Given the description of an element on the screen output the (x, y) to click on. 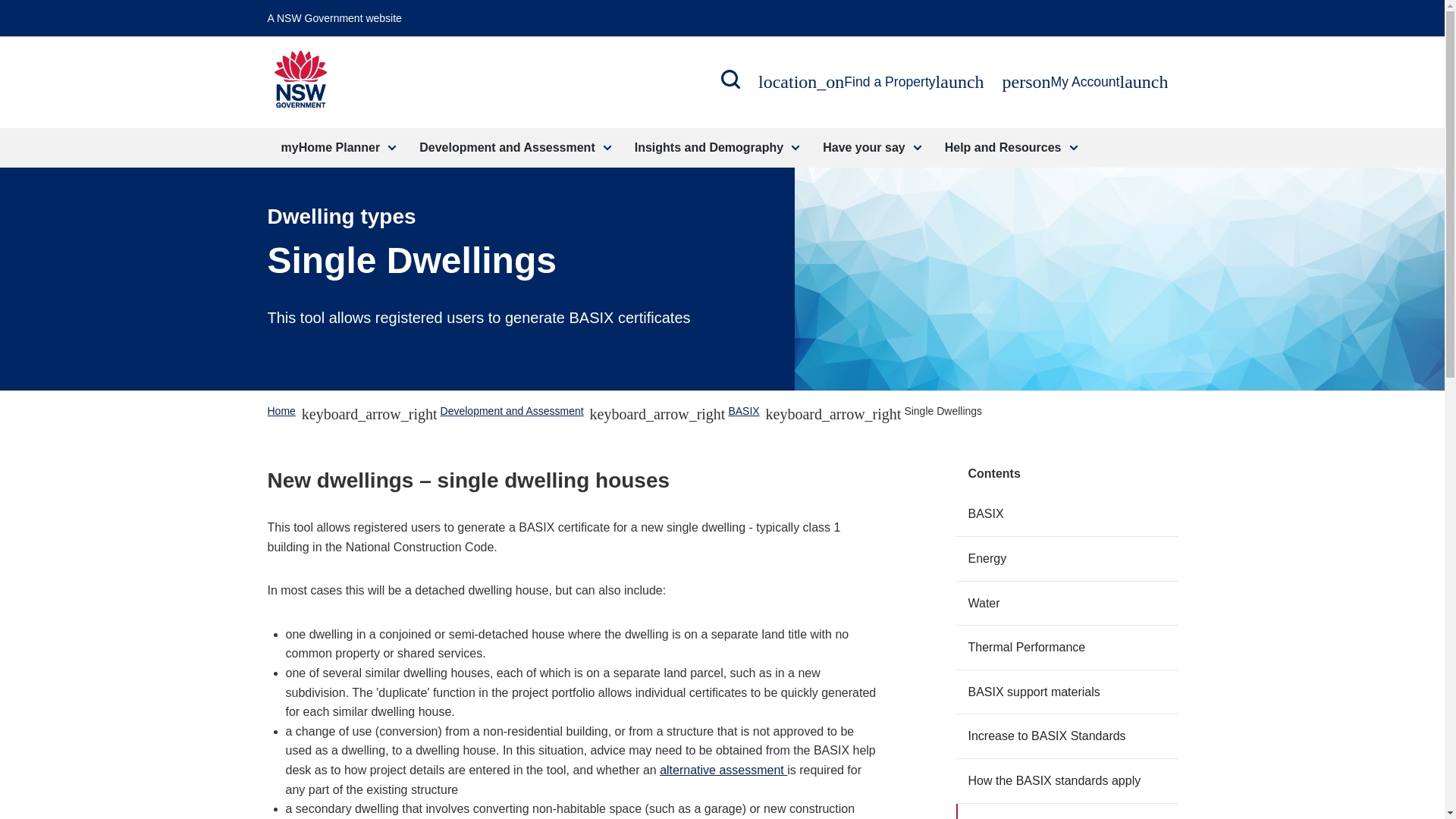
A NSW Government website (1084, 81)
Skip to main content (333, 18)
Insights and Demography (336, 147)
Development and Assessment (715, 147)
